Given the description of an element on the screen output the (x, y) to click on. 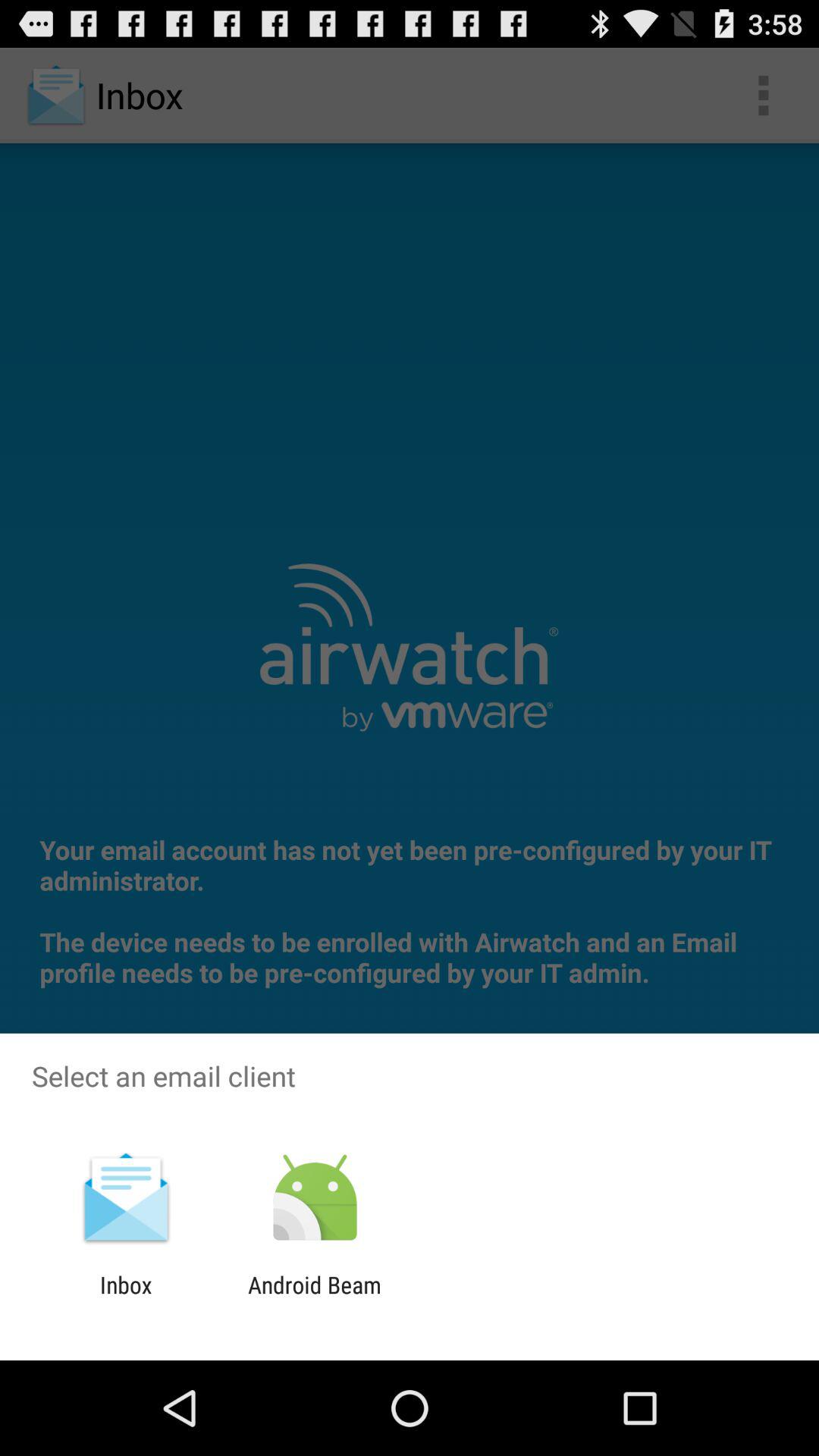
press android beam item (314, 1298)
